Given the description of an element on the screen output the (x, y) to click on. 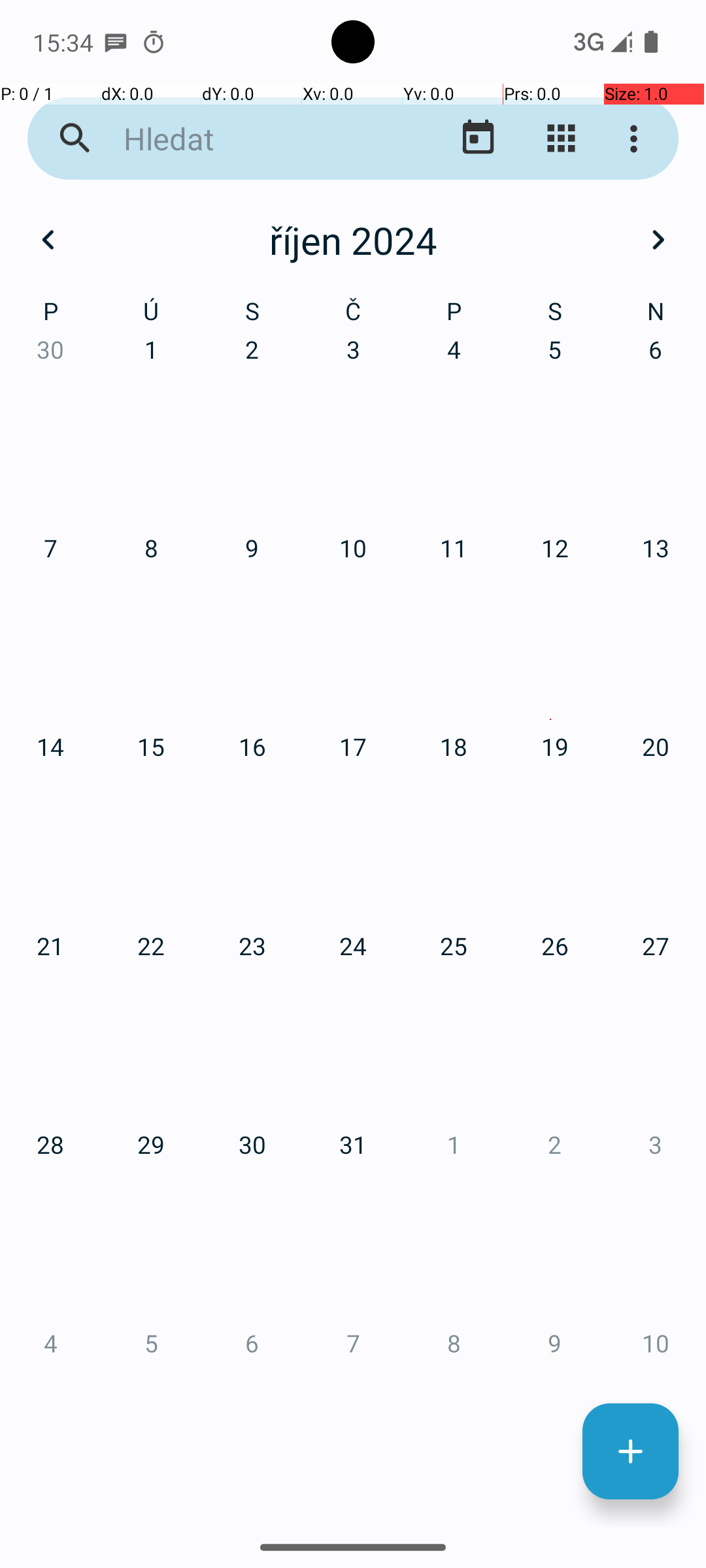
Přejít na dnešní datum Element type: android.widget.Button (477, 138)
říjen 2024 Element type: android.widget.TextView (352, 239)
